Given the description of an element on the screen output the (x, y) to click on. 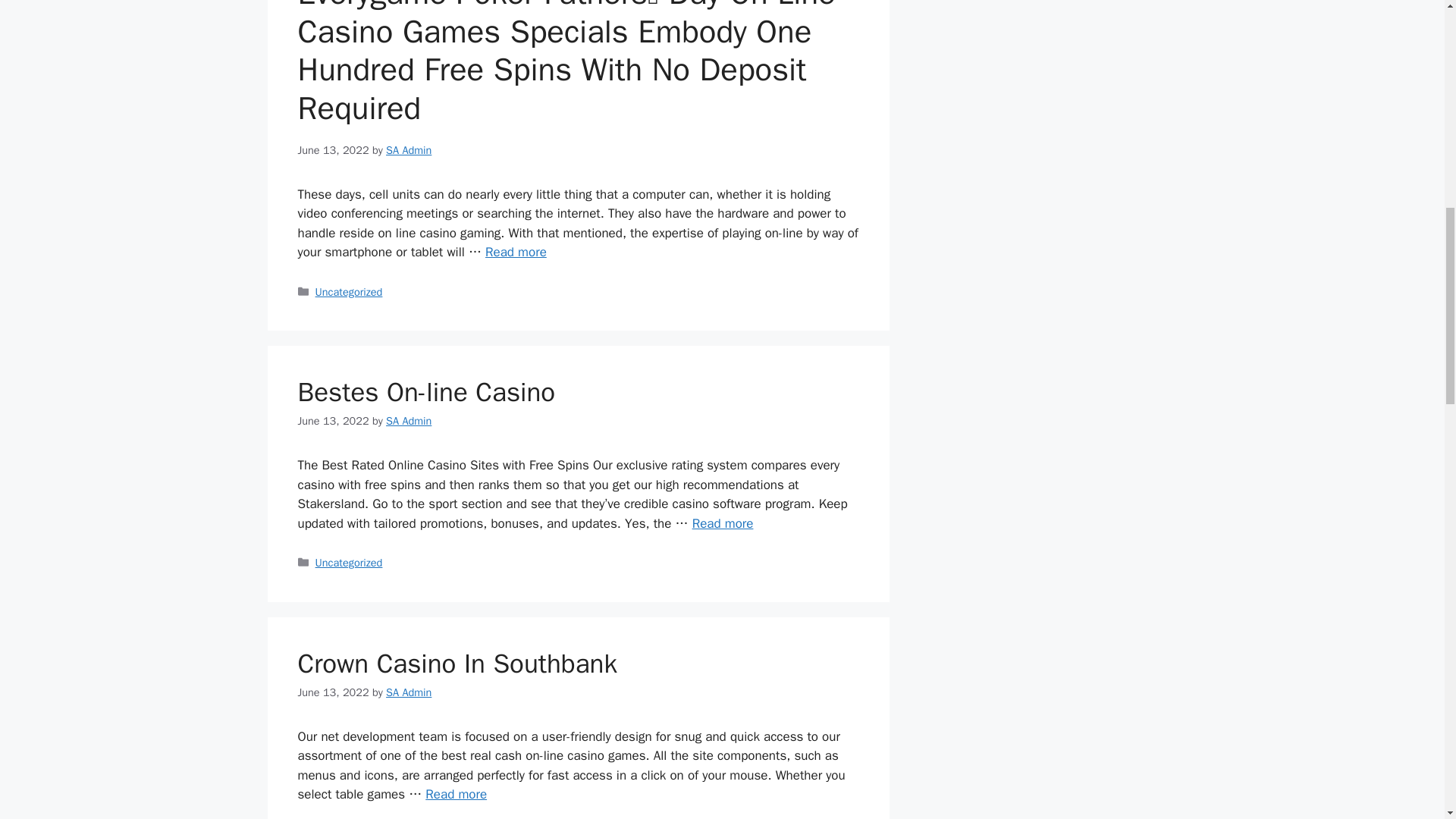
SA Admin (407, 420)
Read more (723, 523)
Crown Casino In Southbank (455, 794)
SA Admin (407, 692)
Read more (515, 252)
View all posts by SA Admin (407, 420)
Uncategorized (348, 562)
Bestes On-line Casino (723, 523)
Bestes On-line Casino (425, 391)
Read more (455, 794)
